Given the description of an element on the screen output the (x, y) to click on. 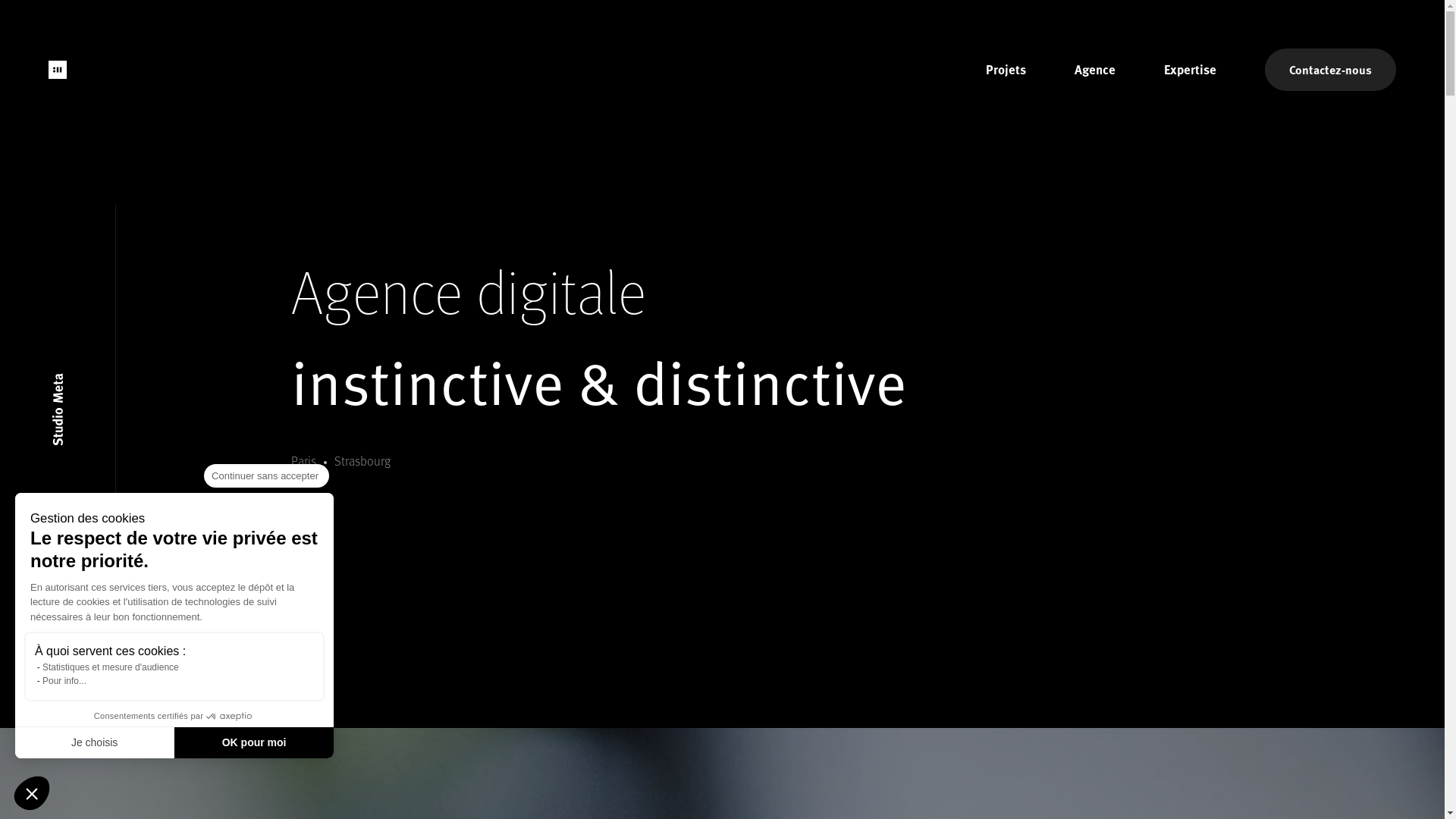
Expertise Element type: text (1190, 68)
Contactez-nous Element type: text (1330, 69)
OK pour moi Element type: text (253, 742)
Statistiques et mesure d'audience Element type: text (110, 667)
Agence Element type: text (1094, 68)
Pour info... Element type: text (64, 680)
Paris Element type: text (303, 460)
Projets Element type: text (1005, 68)
Continuer sans accepter Element type: hover (31, 793)
Je choisis Element type: text (94, 742)
Strasbourg Element type: text (362, 460)
Agence web, instinctive et distinctive Element type: text (57, 69)
